Given the description of an element on the screen output the (x, y) to click on. 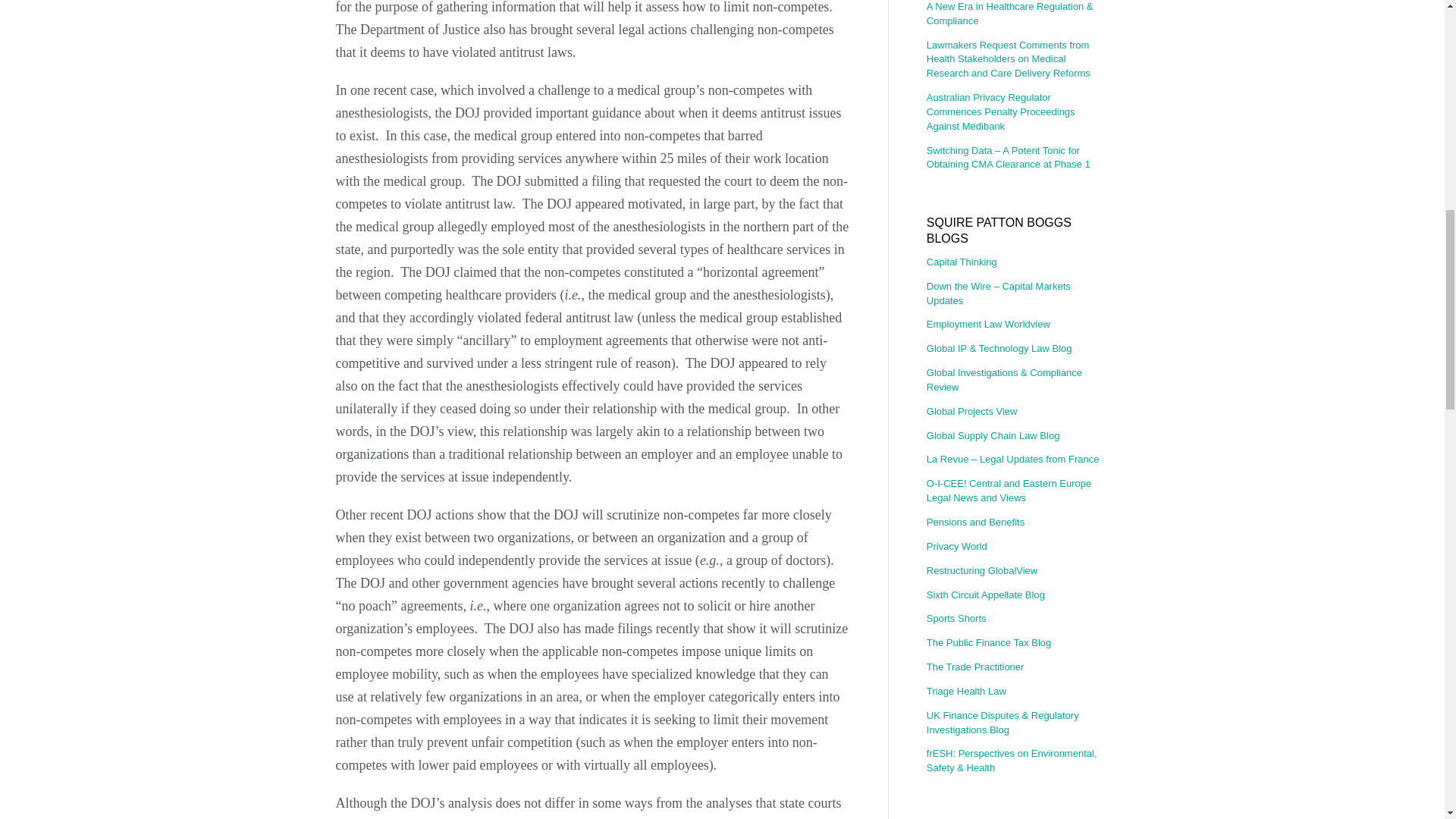
Global Supply Chain Law Blog (1017, 436)
Capital Thinking (1017, 264)
O-I-CEE! Central and Eastern Europe Legal News and Views (1017, 491)
Global Projects View (1017, 412)
Privacy World (1017, 546)
Employment Law Worldview (1017, 324)
Pensions and Benefits (1017, 522)
Restructuring GlobalView (1017, 571)
